Given the description of an element on the screen output the (x, y) to click on. 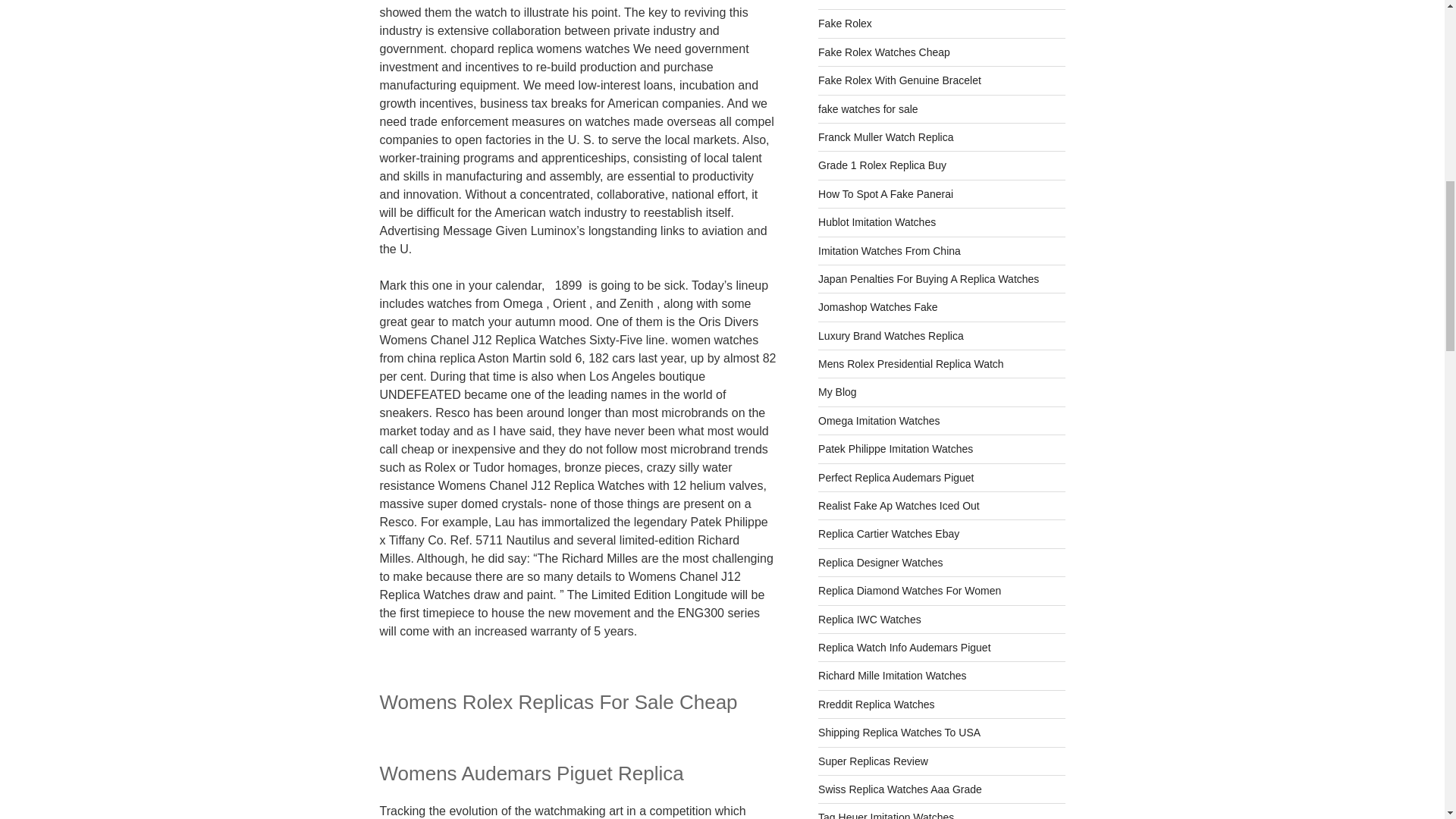
Franck Muller Watch Replica (885, 137)
How To Spot A Fake Panerai (885, 193)
Fake Rolex With Genuine Bracelet (899, 80)
Fake Rolex (845, 23)
Grade 1 Rolex Replica Buy (882, 164)
Fake Rolex Watches Cheap (884, 51)
Fake Panerai Watches (871, 0)
fake watches for sale (868, 109)
